Given the description of an element on the screen output the (x, y) to click on. 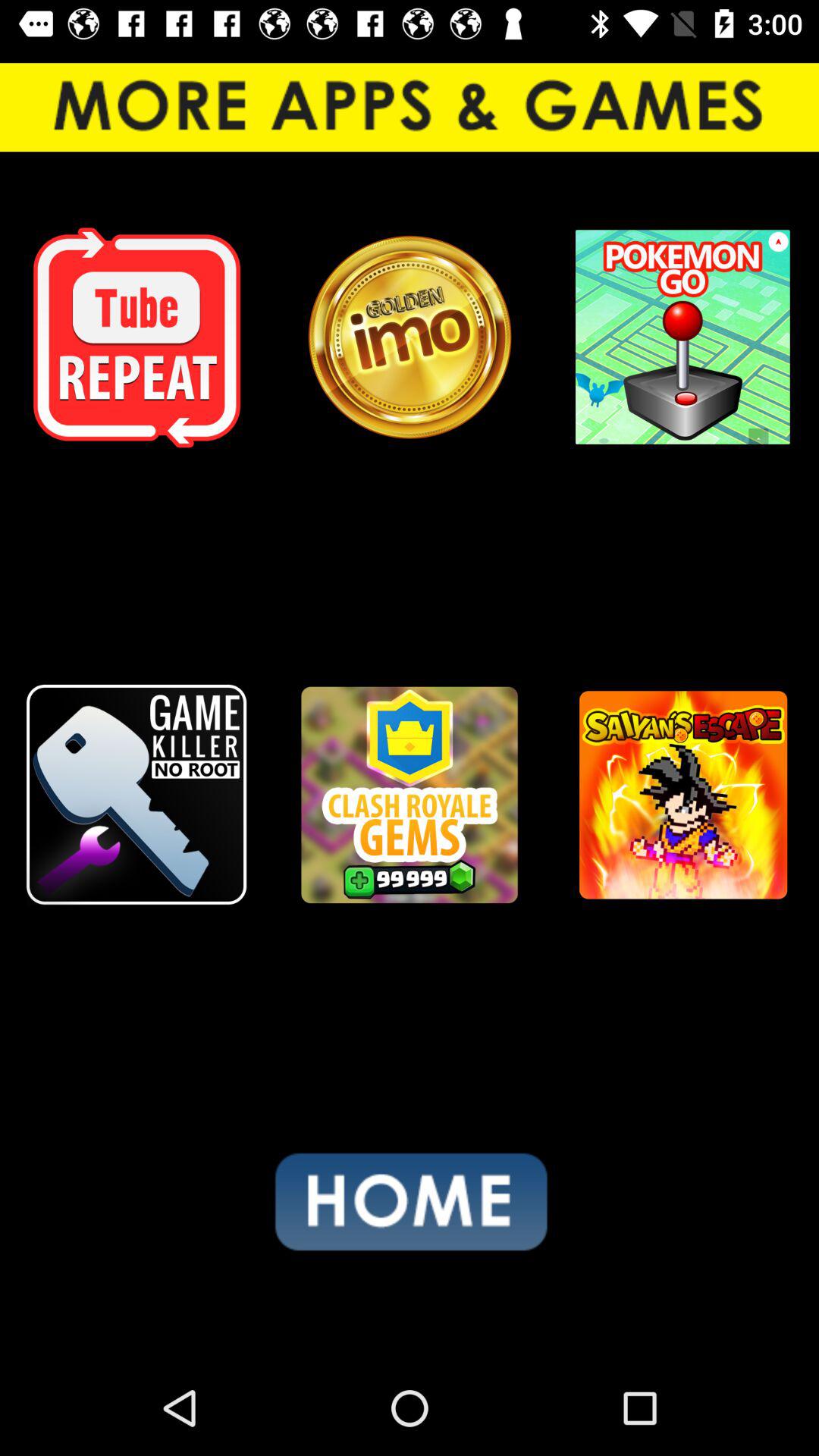
open icon at the top left corner (136, 337)
